Given the description of an element on the screen output the (x, y) to click on. 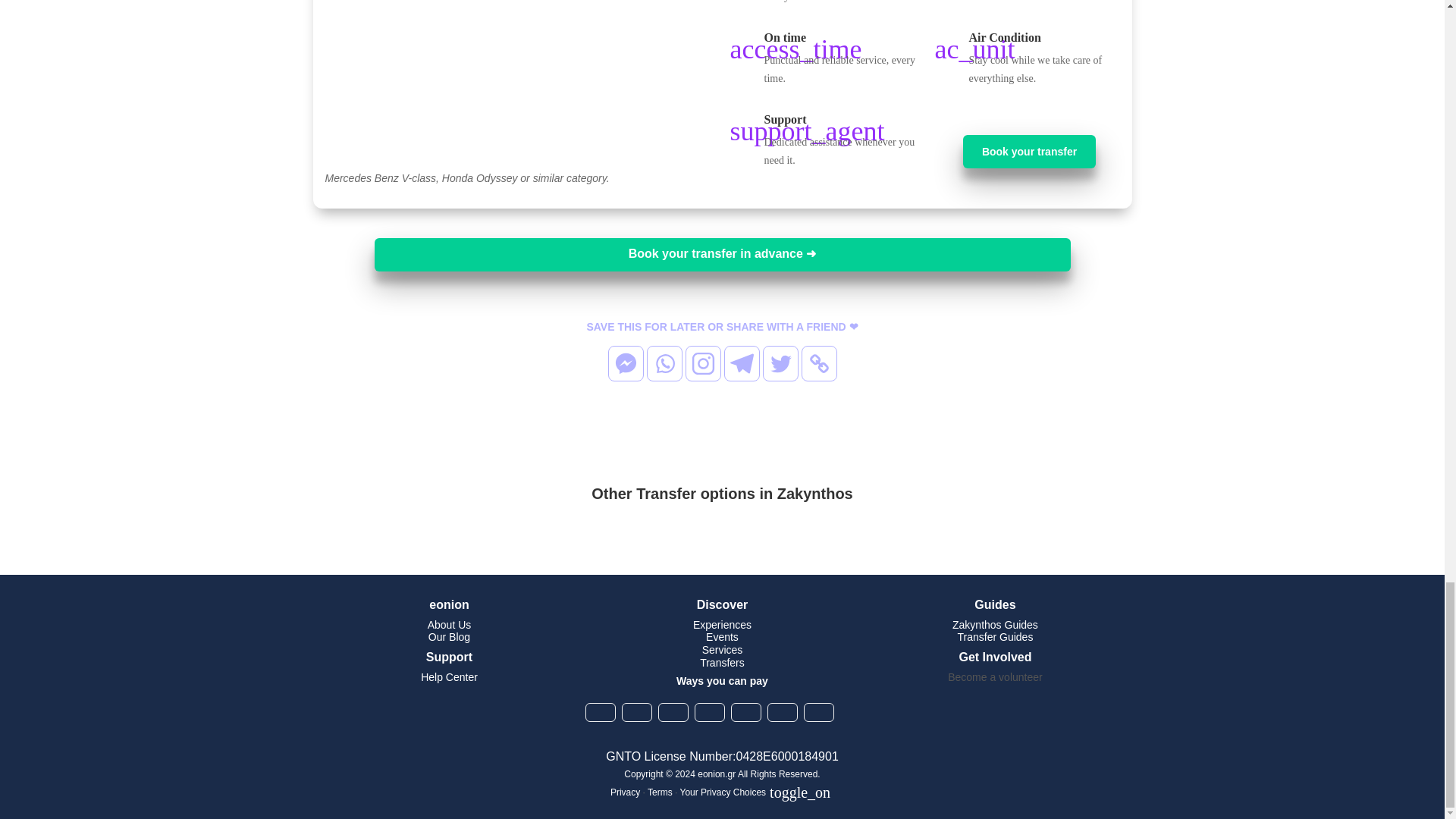
Copy Link (817, 363)
Our Blog (449, 636)
Transfers (722, 662)
Premium Van (516, 84)
Book your transfer (1029, 151)
Experiences (722, 624)
Zakynthos Guides (995, 624)
Transfer Guides (995, 636)
Services (721, 649)
About Us (449, 624)
Telegram (740, 363)
Book your transfer (1029, 151)
Twitter (779, 363)
Instagram (702, 363)
Help Center (448, 676)
